Given the description of an element on the screen output the (x, y) to click on. 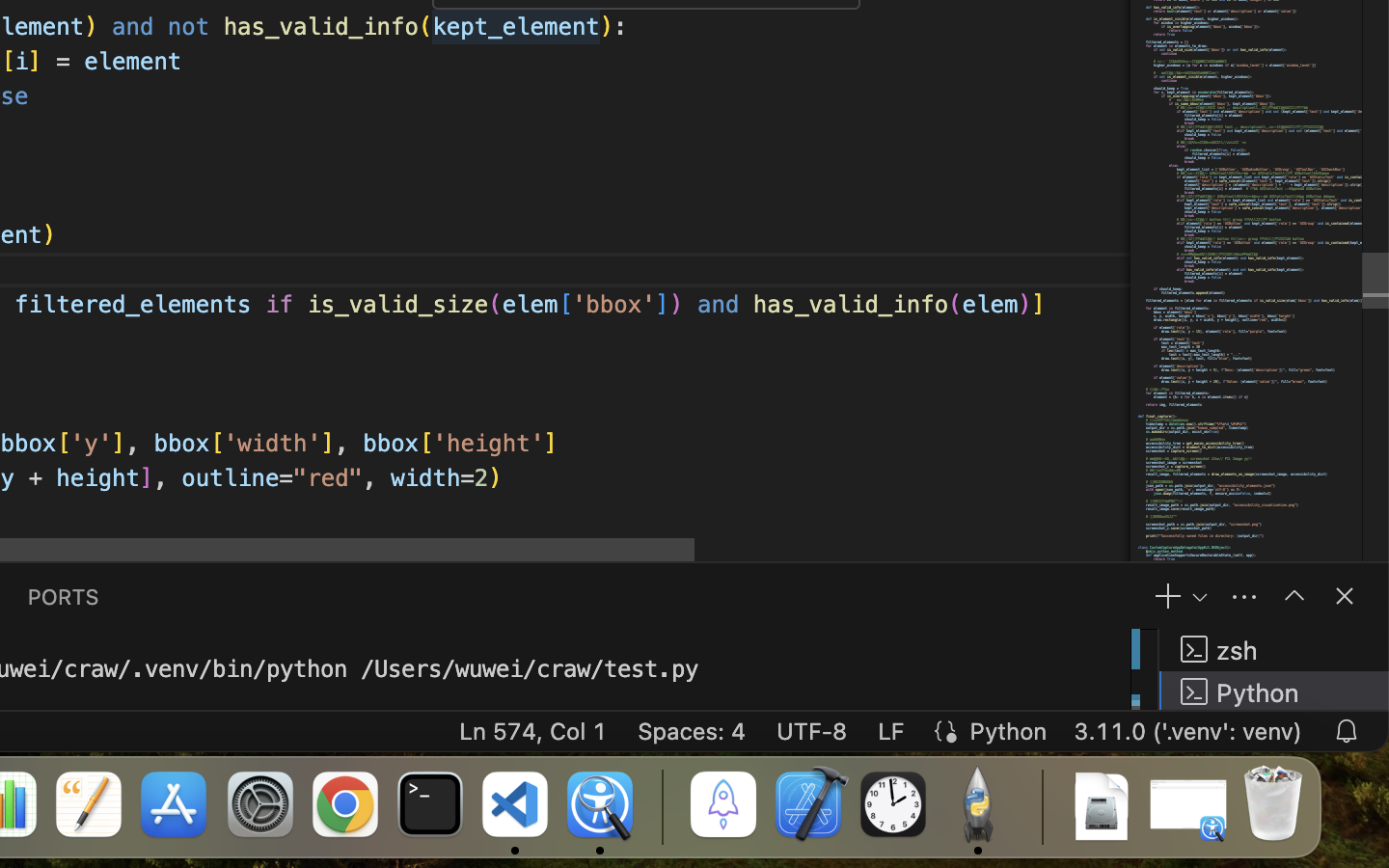
Python  Element type: AXGroup (1274, 690)
0.4285714328289032 Element type: AXDockItem (660, 805)
zsh  Element type: AXGroup (1274, 649)
 Element type: AXCheckBox (1294, 595)
0 PORTS Element type: AXRadioButton (63, 595)
